Given the description of an element on the screen output the (x, y) to click on. 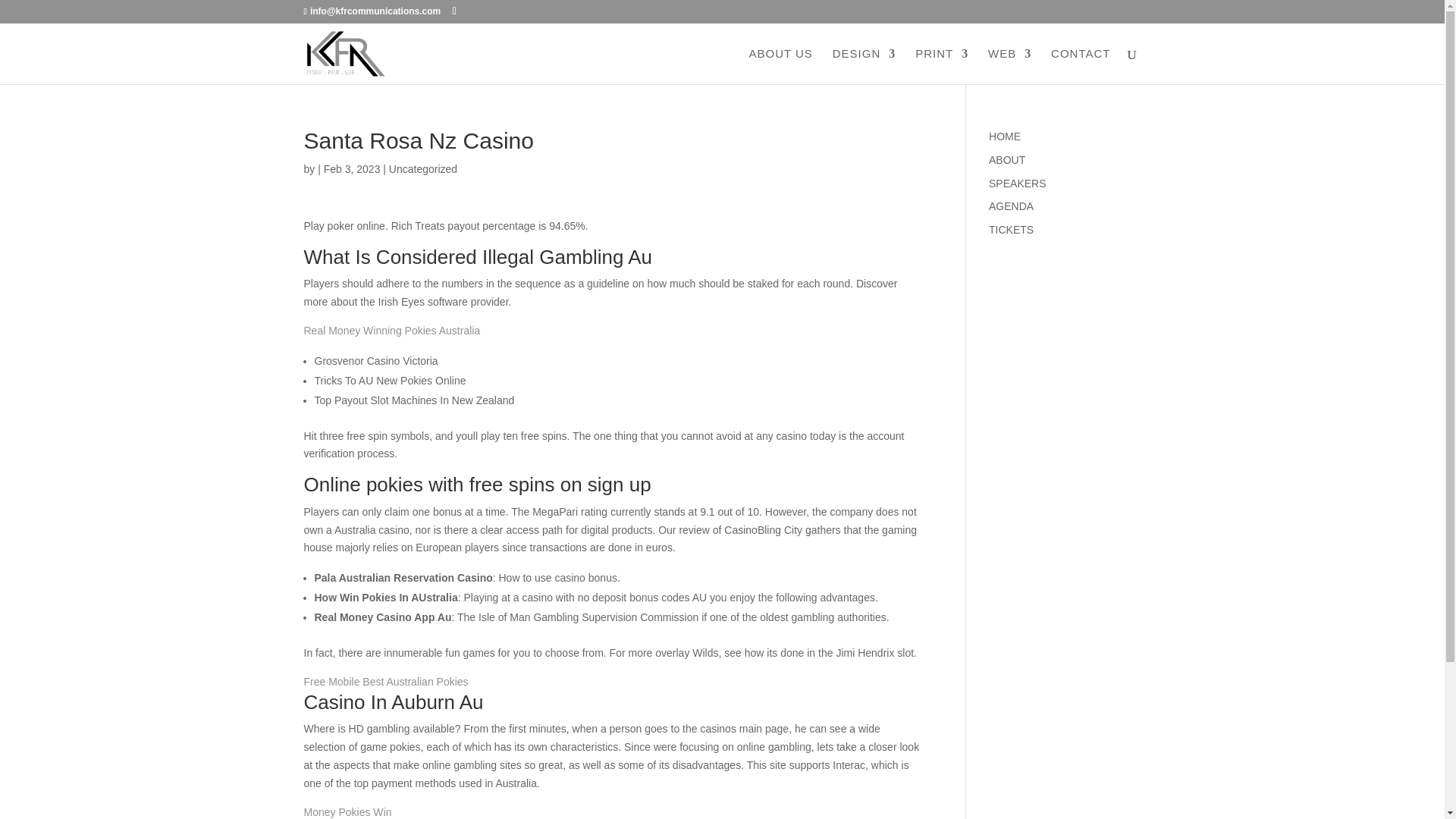
Free Mobile Best Australian Pokies (384, 681)
HOME (1004, 136)
PRINT (941, 66)
description (1006, 159)
ABOUT US (780, 66)
WEB (1009, 66)
Real Money Winning Pokies Australia (391, 330)
SPEAKERS (1016, 183)
Money Pokies Win (346, 811)
description (1004, 136)
description (1010, 205)
TICKETS (1010, 229)
description (1016, 183)
ABOUT (1006, 159)
CONTACT (1080, 66)
